Given the description of an element on the screen output the (x, y) to click on. 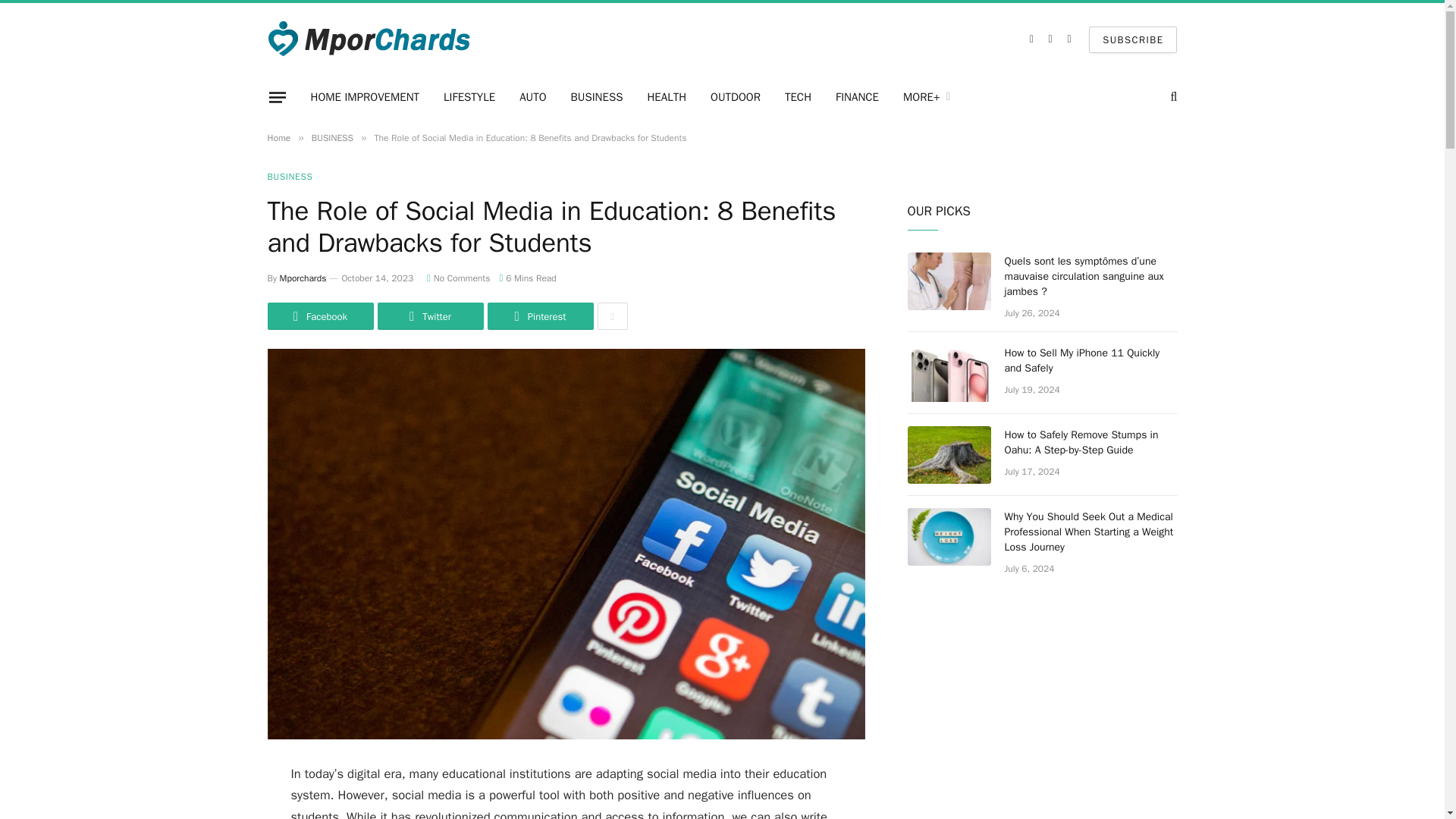
OUTDOOR (735, 96)
HOME IMPROVEMENT (365, 96)
Share on Facebook (319, 316)
Posts by Mporchards (302, 277)
BUSINESS (596, 96)
FINANCE (857, 96)
AUTO (531, 96)
Share on Twitter (430, 316)
Share on Pinterest (539, 316)
